Given the description of an element on the screen output the (x, y) to click on. 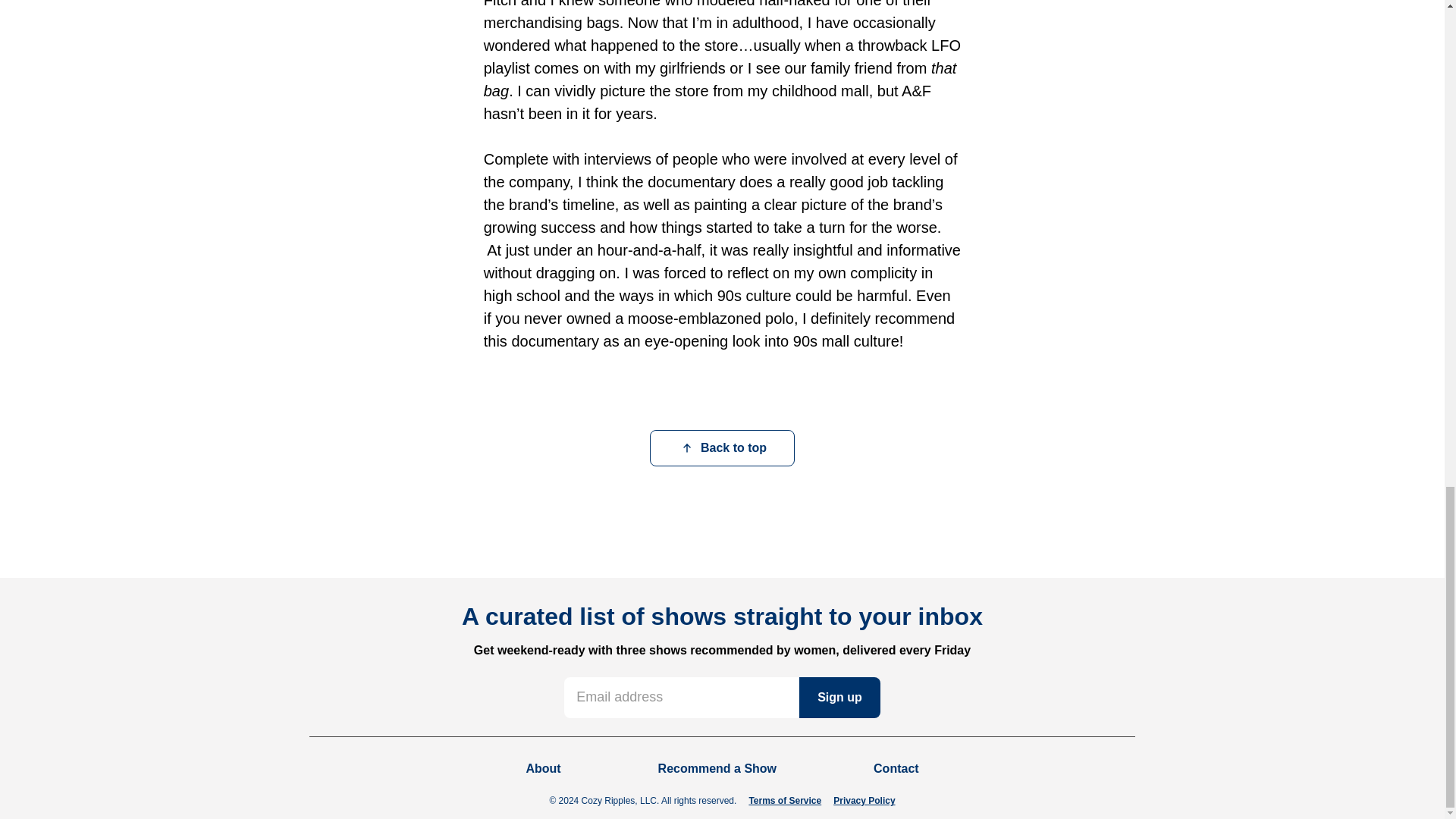
Privacy Policy (863, 800)
Sign up (839, 697)
Back to top (721, 447)
Sign up (839, 697)
Contact (895, 768)
Terms of Service (784, 800)
About (542, 768)
Recommend a Show (717, 768)
